Given the description of an element on the screen output the (x, y) to click on. 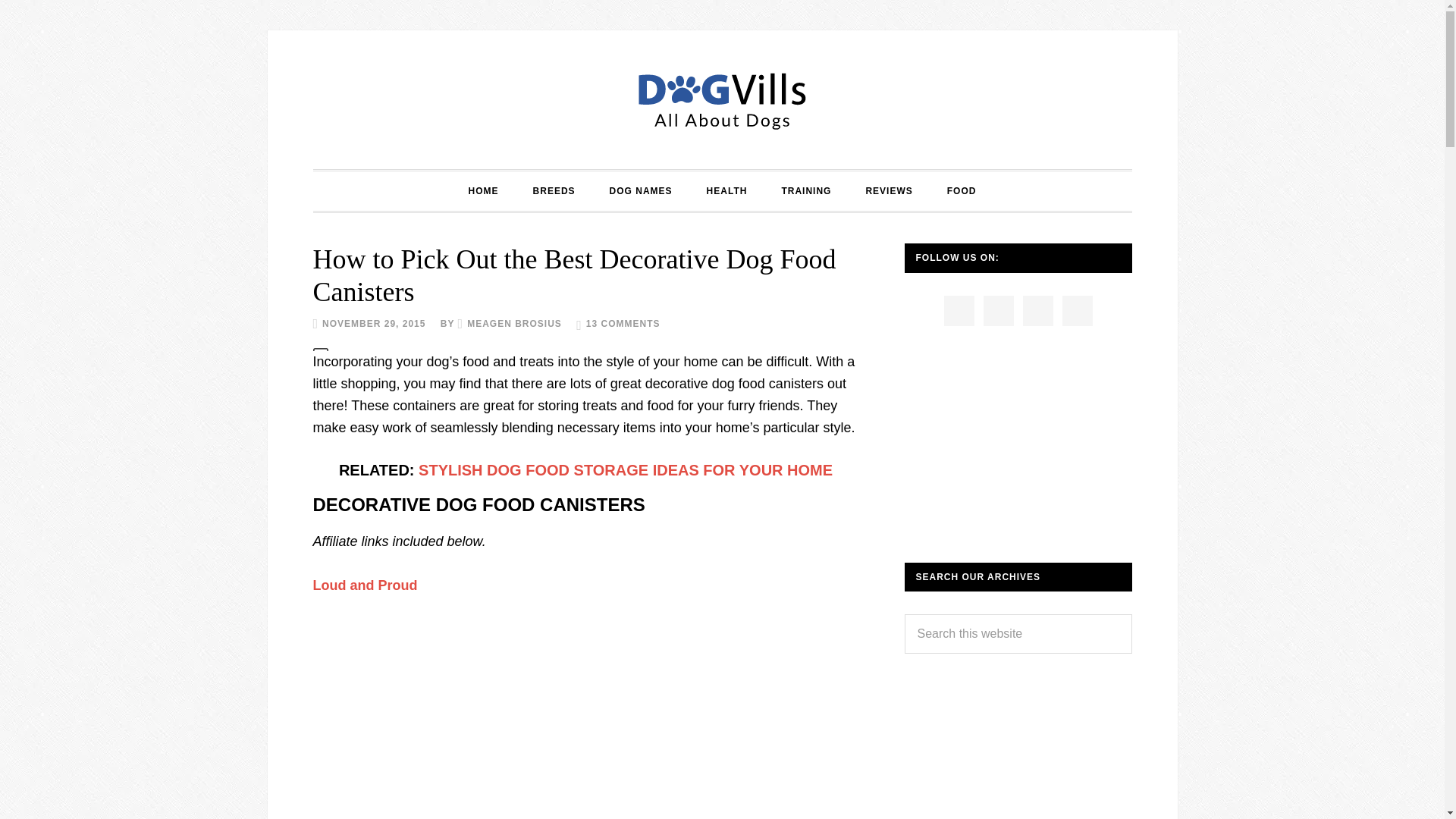
DOG NAMES (640, 190)
REVIEWS (888, 190)
HEALTH (726, 190)
TRAINING (805, 190)
13 COMMENTS (623, 323)
Loud and Proud (364, 585)
FOOD (961, 190)
HOME (482, 190)
MEAGEN BROSIUS (514, 323)
STYLISH DOG FOOD STORAGE IDEAS FOR YOUR HOME (625, 469)
BREEDS (554, 190)
